Given the description of an element on the screen output the (x, y) to click on. 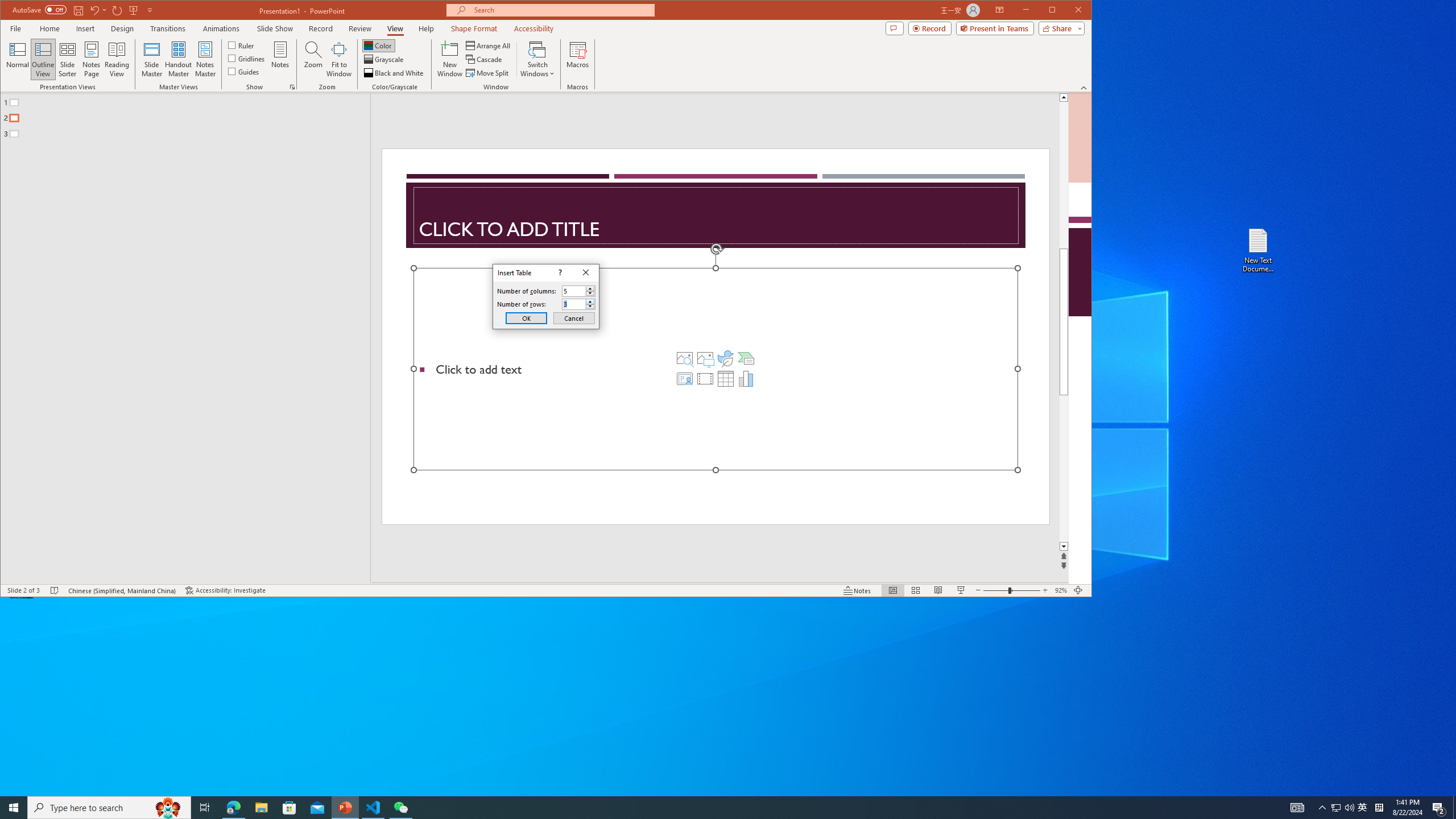
Pictures (704, 357)
Microsoft Edge - 1 running window (233, 807)
Grid Settings... (292, 86)
Notes Page (91, 59)
Ruler (241, 44)
